Given the description of an element on the screen output the (x, y) to click on. 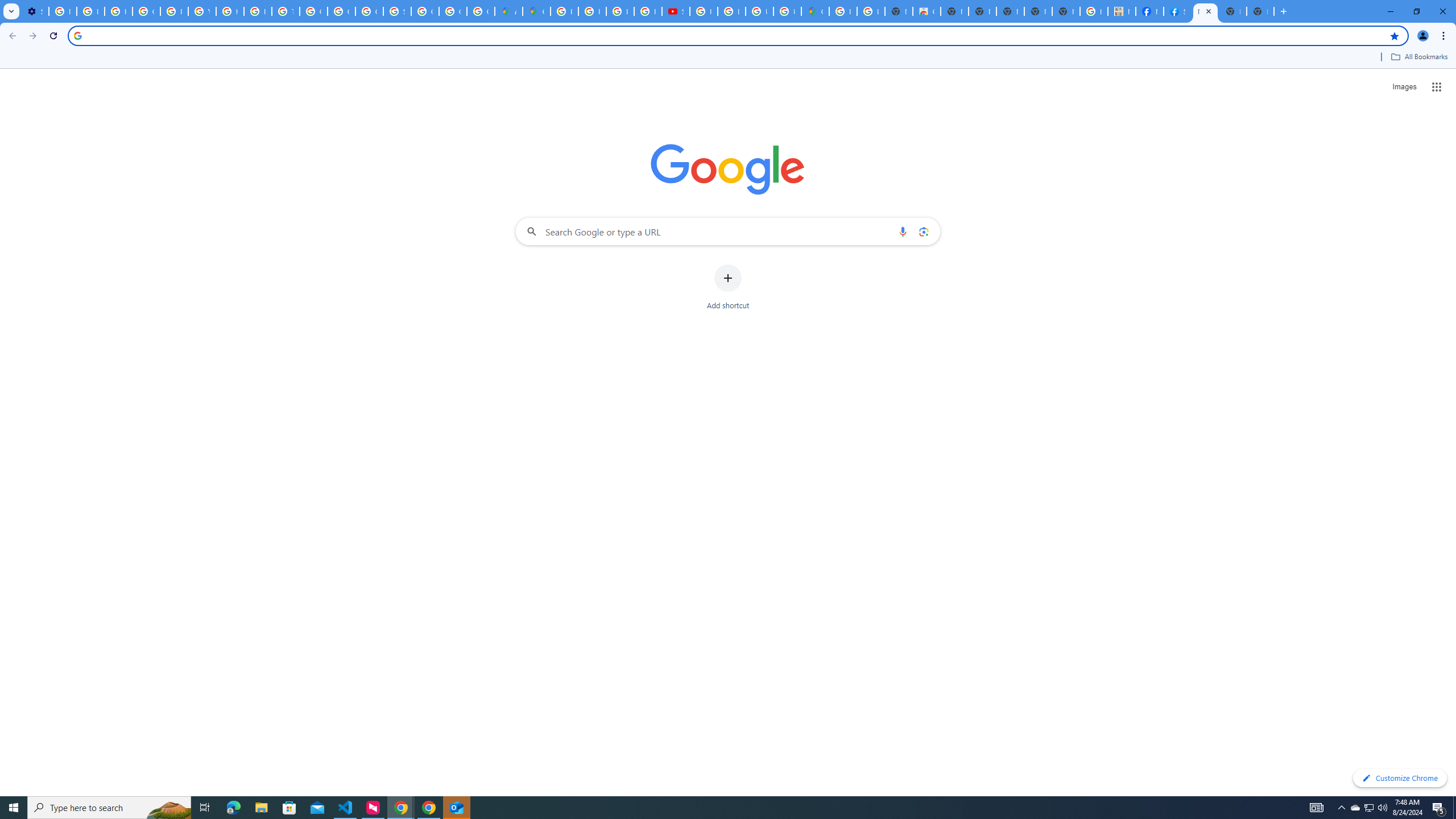
Settings - Customize profile (34, 11)
How Chrome protects your passwords - Google Chrome Help (703, 11)
YouTube (202, 11)
New Tab (1260, 11)
Chrome Web Store (926, 11)
